Given the description of an element on the screen output the (x, y) to click on. 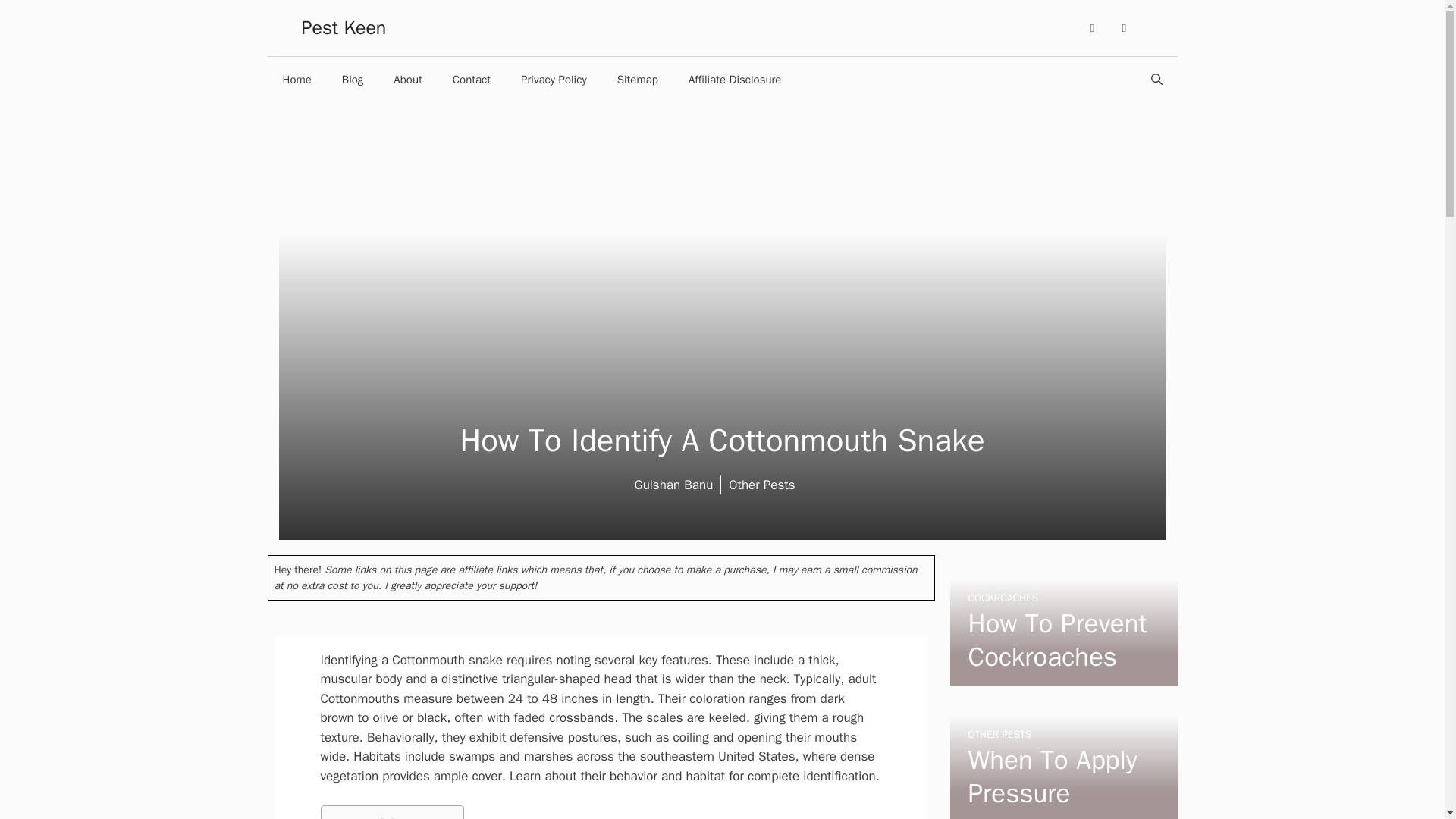
Blog (352, 79)
Contact (471, 79)
Affiliate Disclosure (734, 79)
About (407, 79)
OTHER PESTS (999, 734)
Privacy Policy (553, 79)
Pest Keen (344, 27)
